Given the description of an element on the screen output the (x, y) to click on. 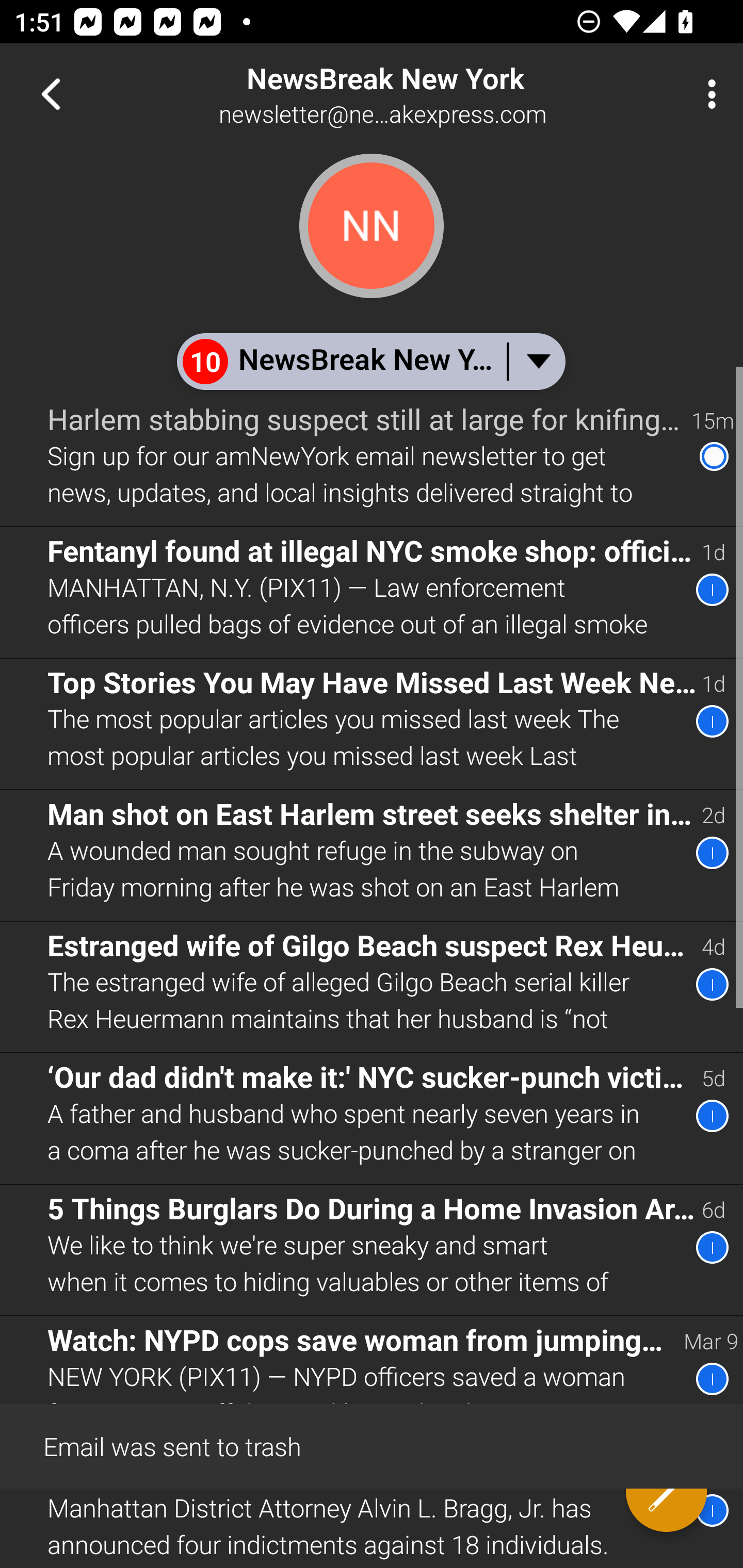
Navigate up (50, 93)
NewsBreak New York newsletter@newsbreakexpress.com (436, 93)
More Options (706, 93)
10 NewsBreak New York & You (370, 361)
Email was sent to trash (371, 1445)
